Given the description of an element on the screen output the (x, y) to click on. 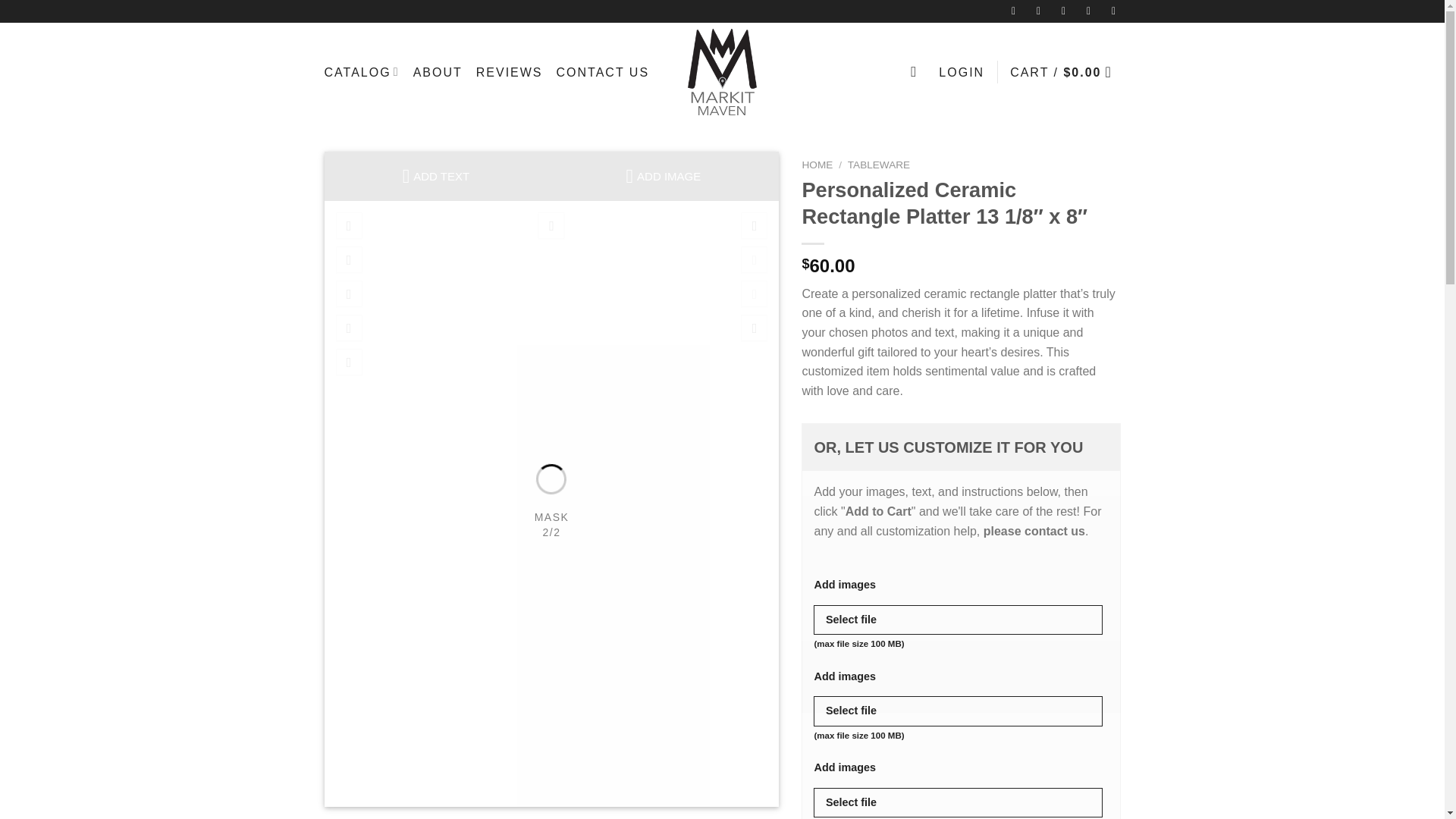
CATALOG (361, 71)
Cart (1064, 71)
TABLEWARE (878, 164)
REVIEWS (509, 71)
HOME (817, 164)
CONTACT US (602, 71)
ABOUT (438, 71)
LOGIN (961, 71)
